Given the description of an element on the screen output the (x, y) to click on. 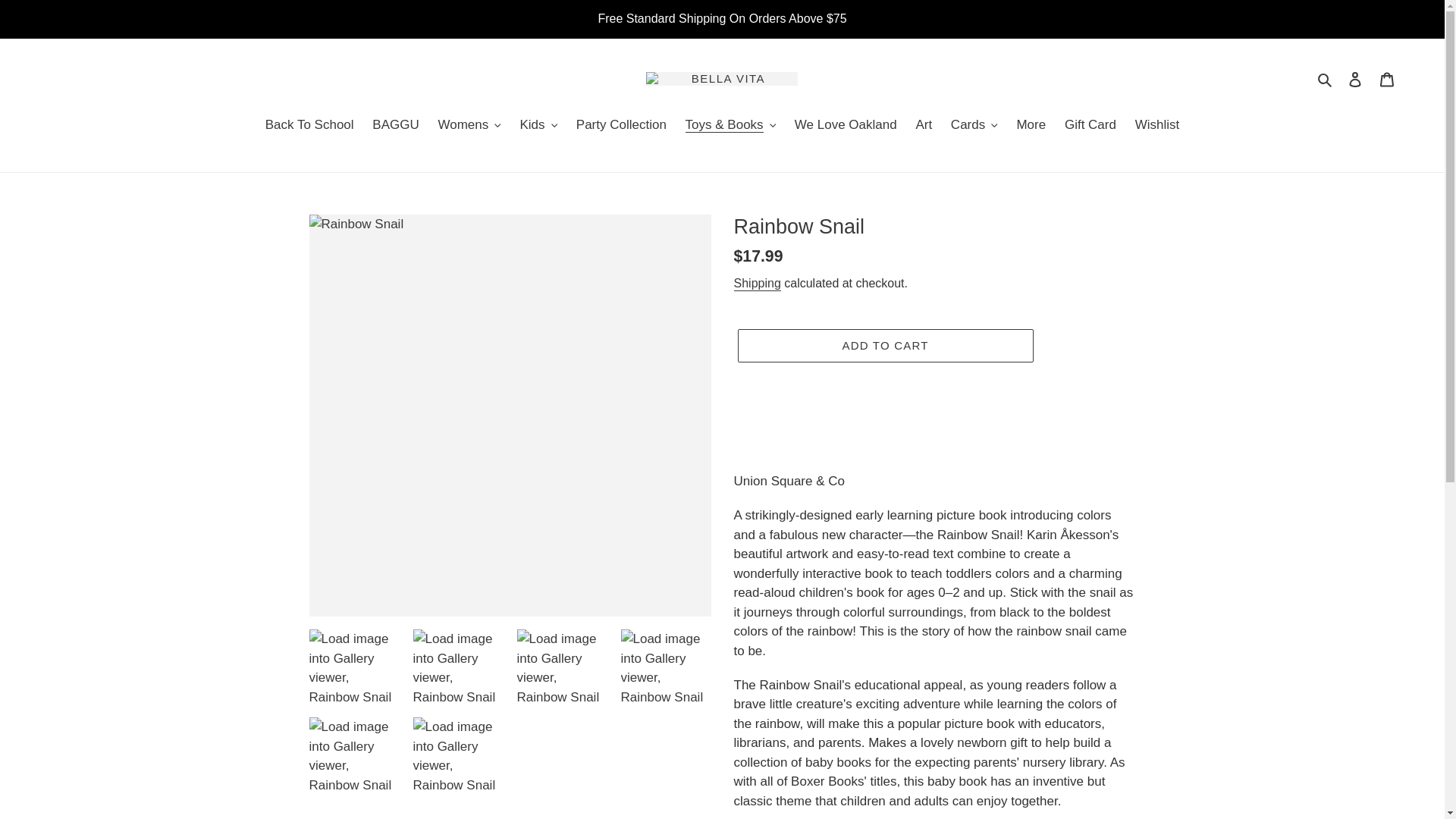
Log in (1355, 78)
Search (1326, 78)
Cart (1387, 78)
